Given the description of an element on the screen output the (x, y) to click on. 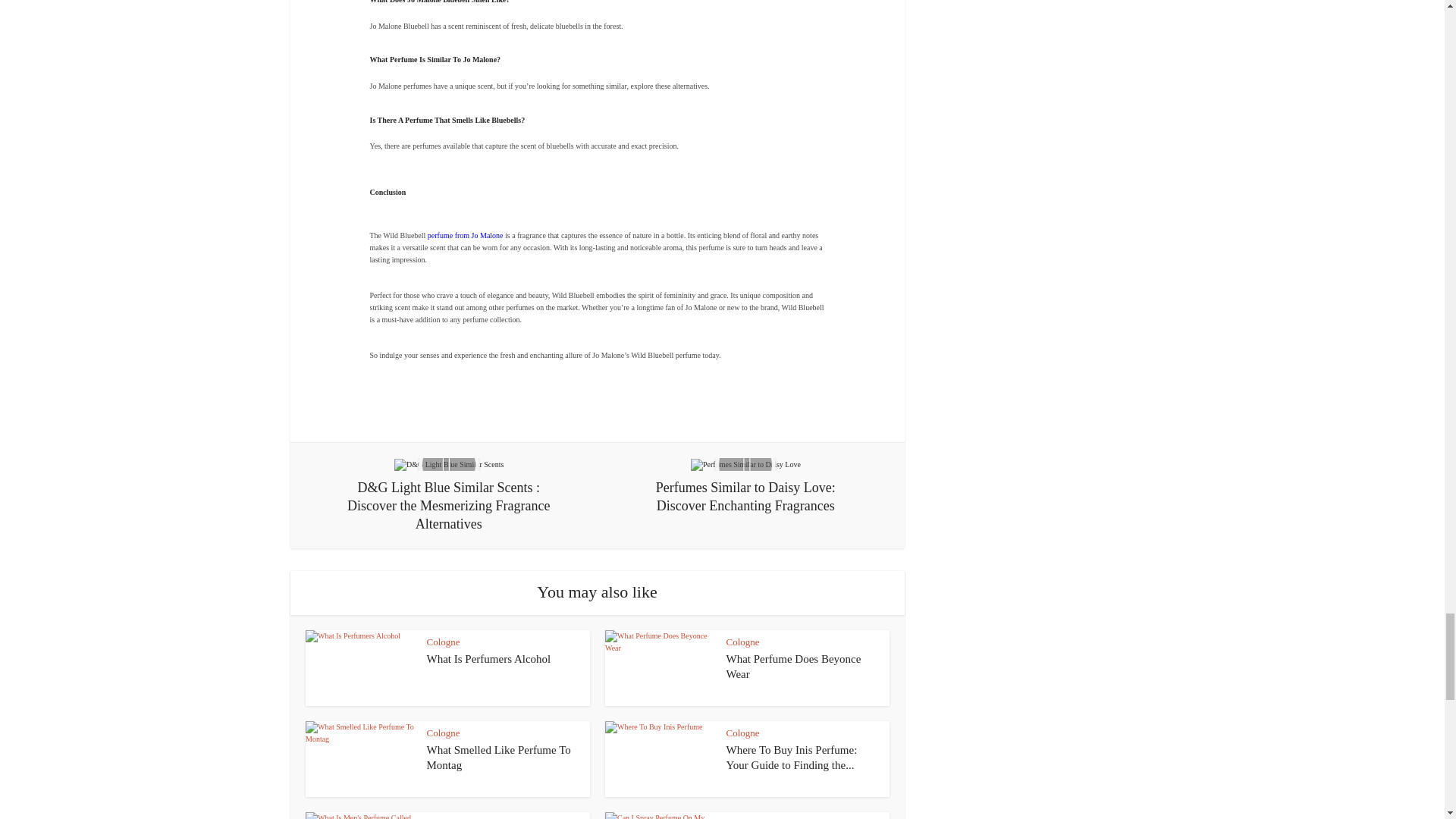
What Perfume Does Beyonce Wear (793, 666)
What Is Perfumers Alcohol 7 (359, 667)
What Smelled Like Perfume To Montag (498, 757)
What Smelled Like Perfume To Montag 9 (359, 758)
What Perfume Does Beyonce Wear 8 (659, 667)
What Is Perfumers Alcohol (488, 658)
